Given the description of an element on the screen output the (x, y) to click on. 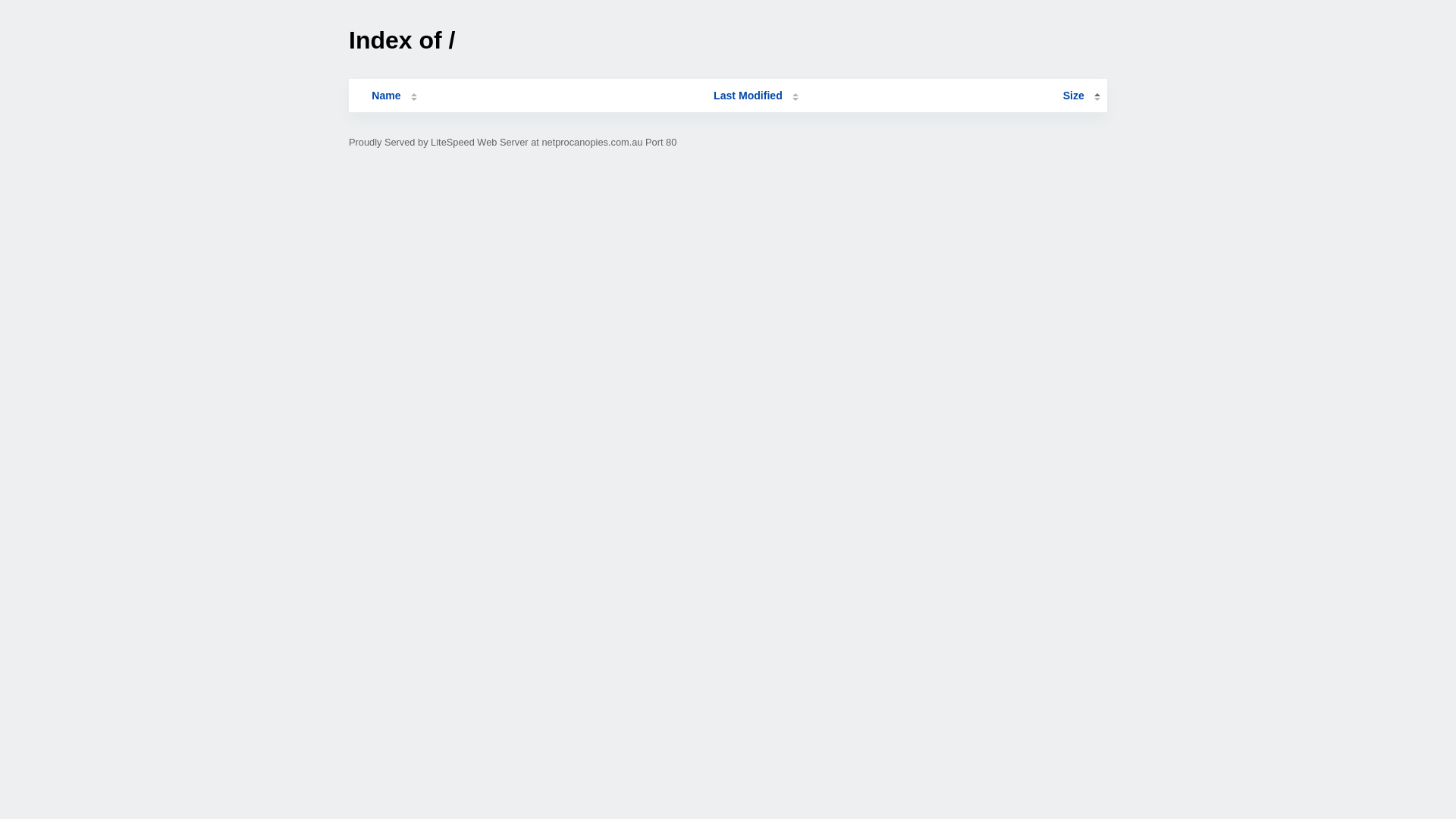
Size Element type: text (1081, 95)
Last Modified Element type: text (755, 95)
Name Element type: text (385, 95)
